Given the description of an element on the screen output the (x, y) to click on. 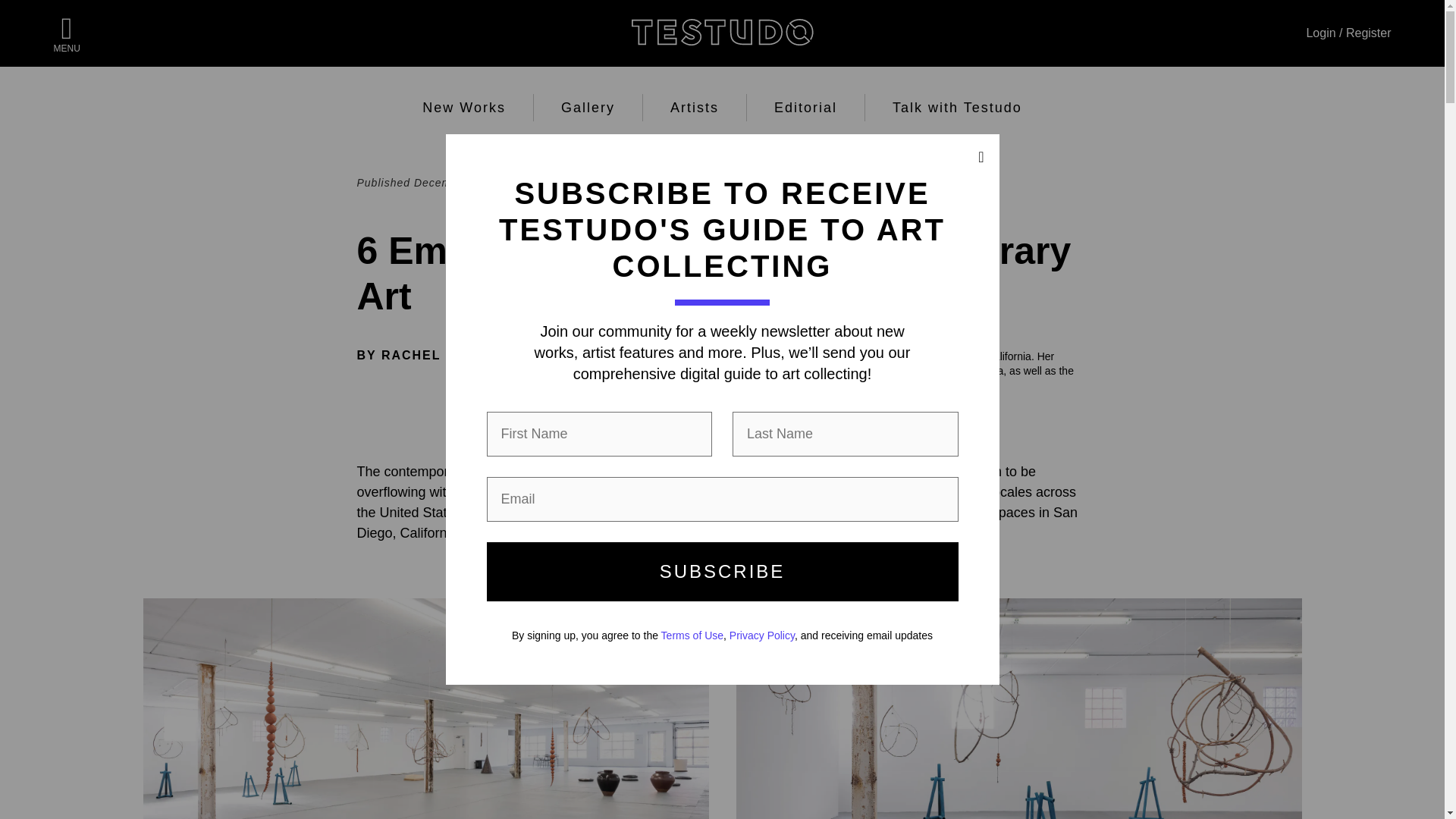
Privacy Policy (761, 635)
SUBSCRIBE (722, 571)
Editorial (805, 107)
Talk with Testudo (957, 107)
Gallery (587, 107)
Terms of Use (692, 635)
Artists (694, 107)
New Works (463, 107)
